Given the description of an element on the screen output the (x, y) to click on. 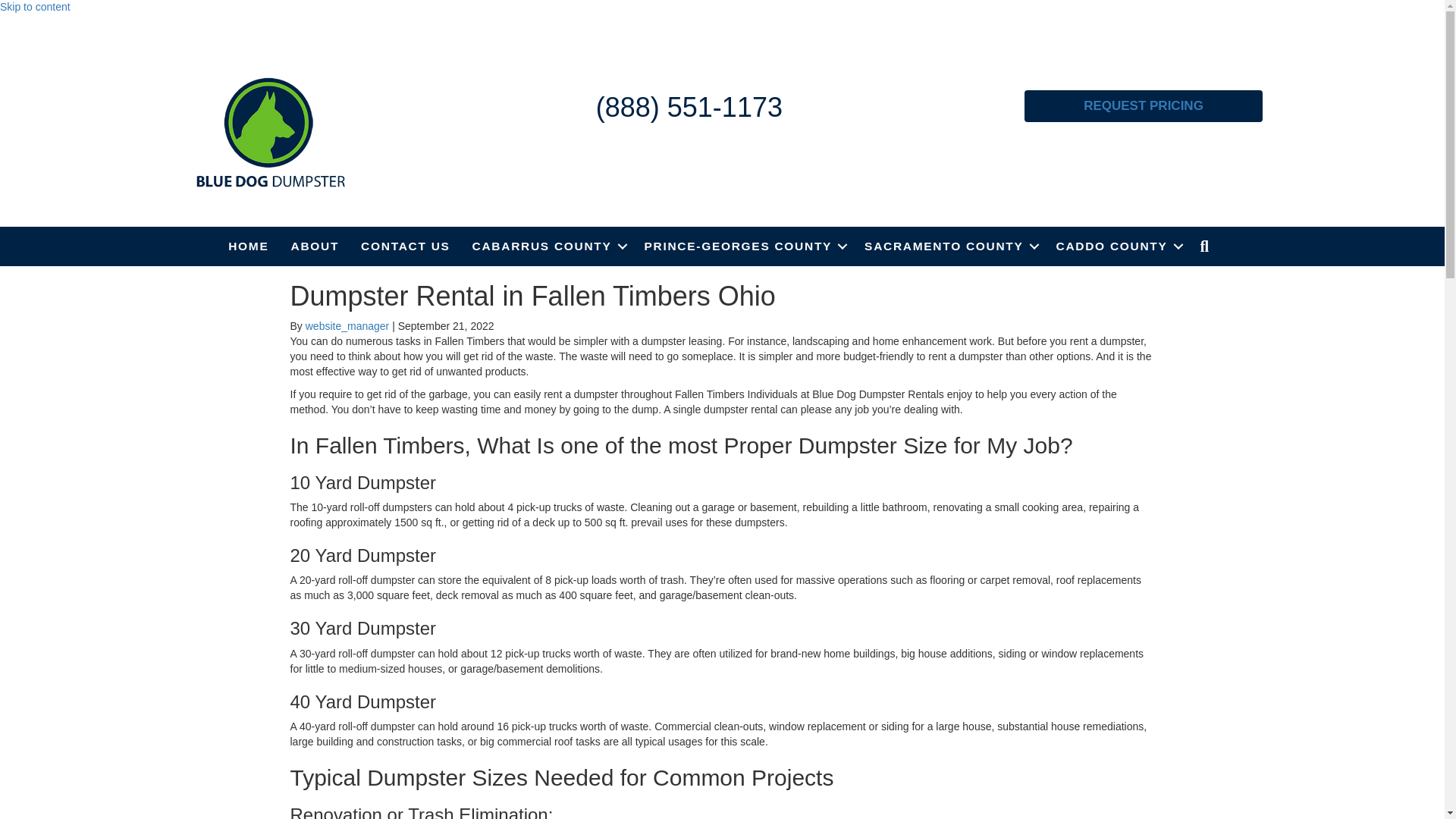
ABOUT (315, 246)
CONTACT US (405, 246)
CABARRUS COUNTY (547, 246)
HOME (247, 246)
Skip to content (34, 6)
SACRAMENTO COUNTY (948, 246)
PRINCE-GEORGES COUNTY (743, 246)
bluedogdumpster (269, 131)
REQUEST PRICING (1144, 106)
